Given the description of an element on the screen output the (x, y) to click on. 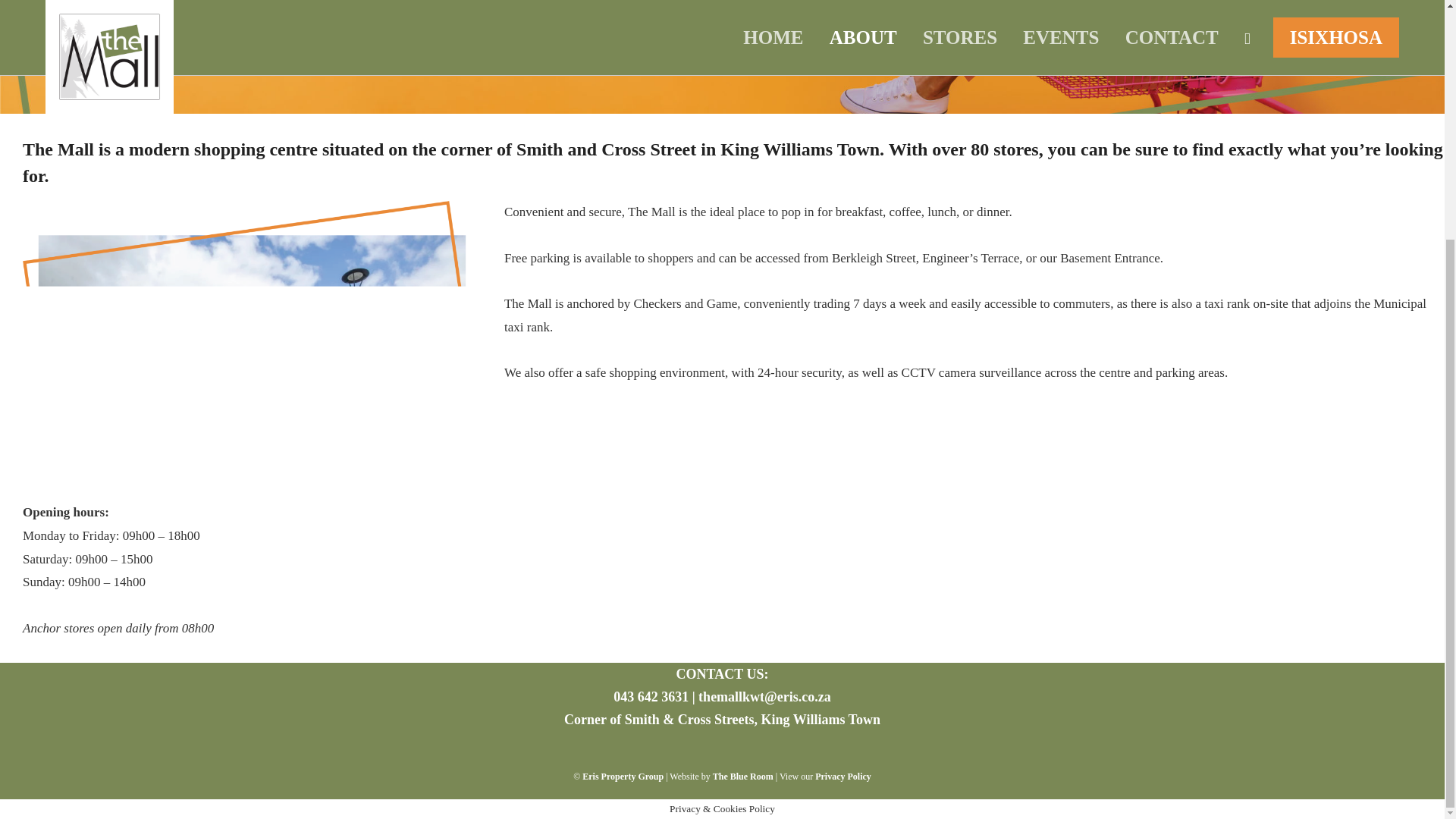
The Blue Room (743, 776)
Privacy Policy (842, 776)
Eris Property Group (622, 776)
